Given the description of an element on the screen output the (x, y) to click on. 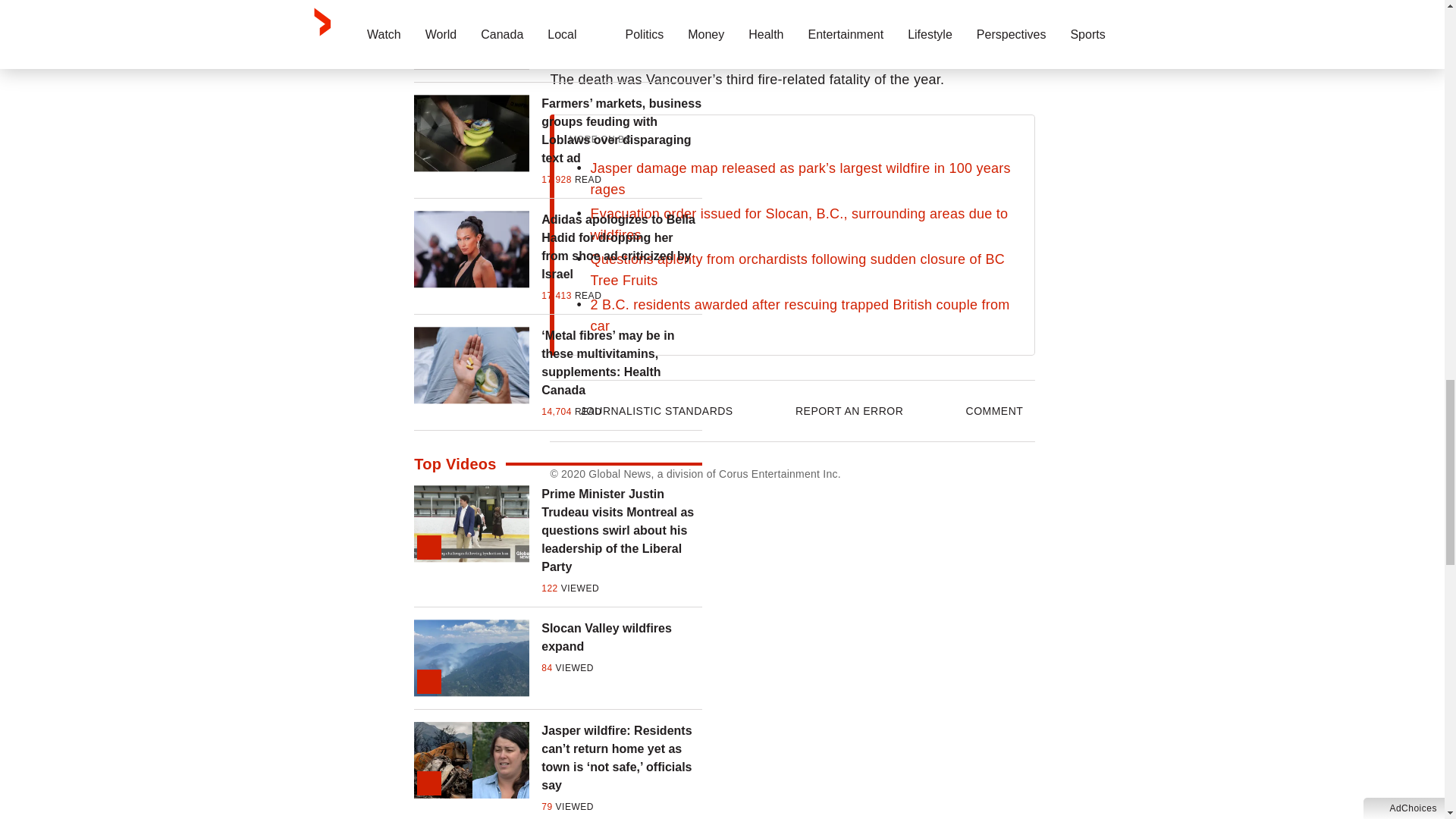
3rd party ad content (791, 22)
Slocan Valley wildfires expand (621, 637)
